Given the description of an element on the screen output the (x, y) to click on. 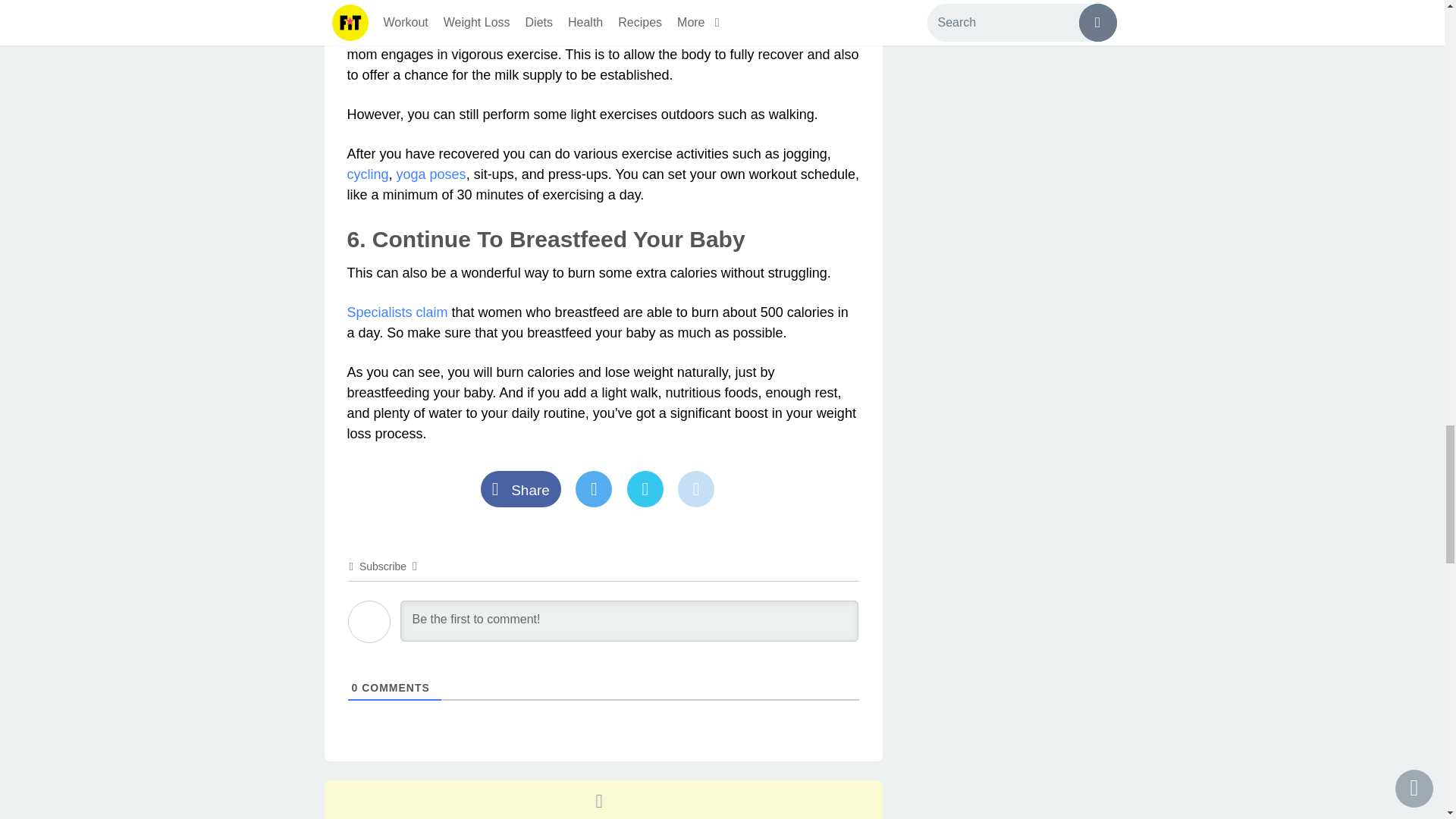
When it comes to breastfeeding (442, 13)
